Given the description of an element on the screen output the (x, y) to click on. 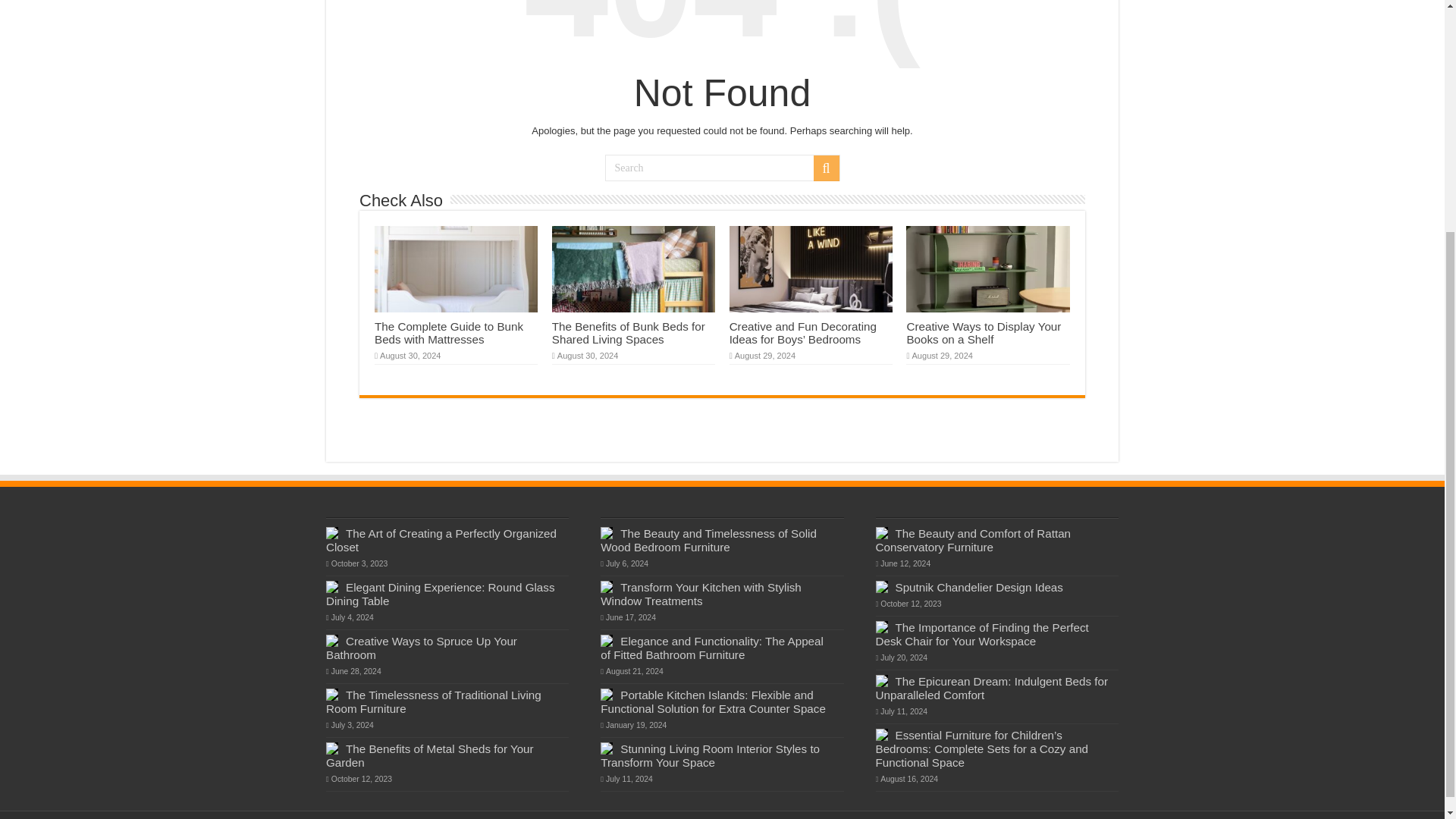
The Complete Guide to Bunk Beds with Mattresses (448, 332)
Search (722, 167)
The Art of Creating a Perfectly Organized Closet (441, 540)
The Benefits of Bunk Beds for Shared Living Spaces (627, 332)
The Benefits of Metal Sheds for Your Garden (430, 755)
Creative Ways to Spruce Up Your Bathroom (421, 647)
Creative Ways to Display Your Books on a Shelf (983, 332)
The Timelessness of Traditional Living Room Furniture (433, 701)
Search (825, 167)
Elegant Dining Experience: Round Glass Dining Table (440, 593)
